Given the description of an element on the screen output the (x, y) to click on. 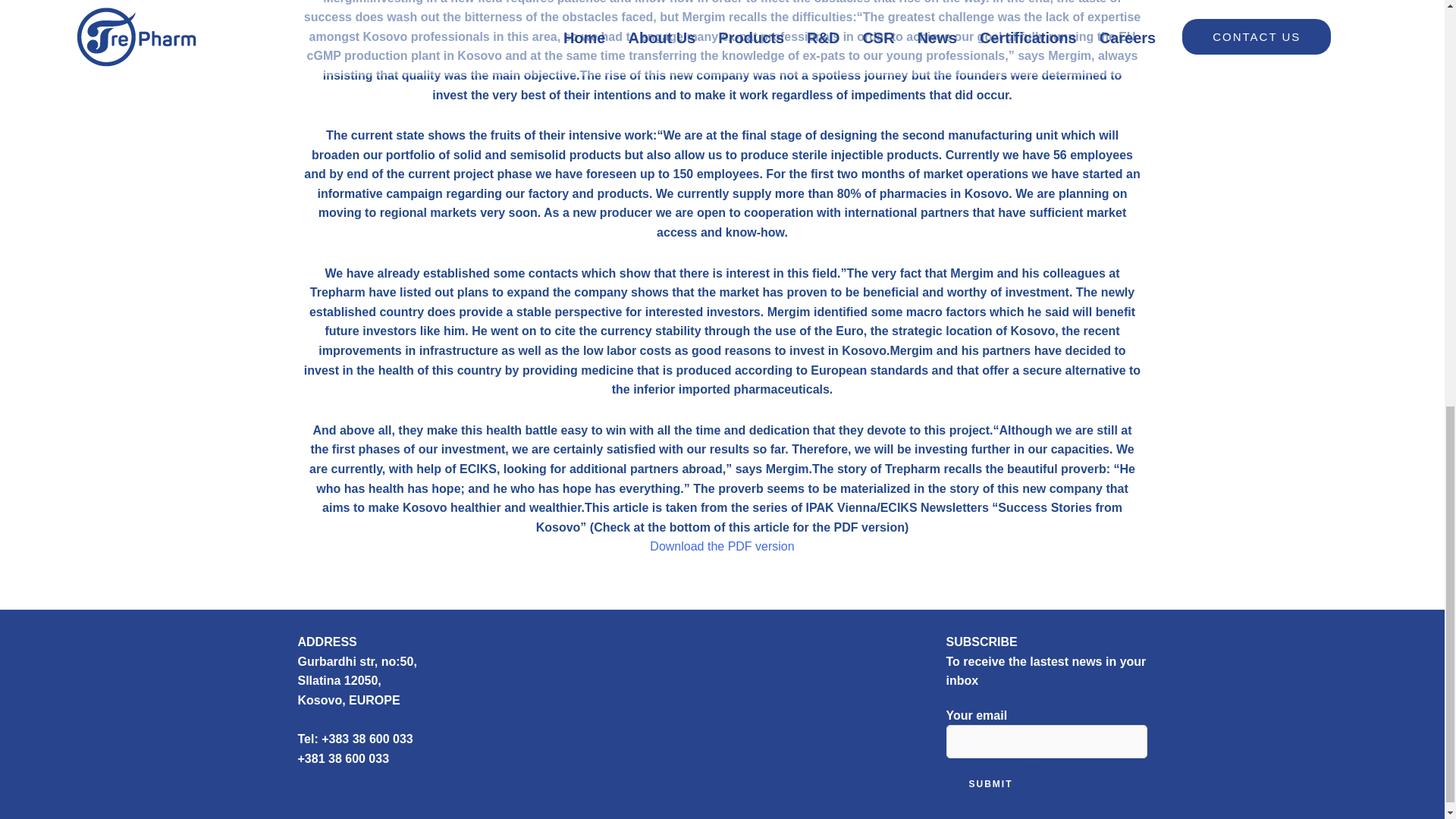
Submit (990, 783)
Download the PDF version (721, 545)
Submit (990, 783)
